Given the description of an element on the screen output the (x, y) to click on. 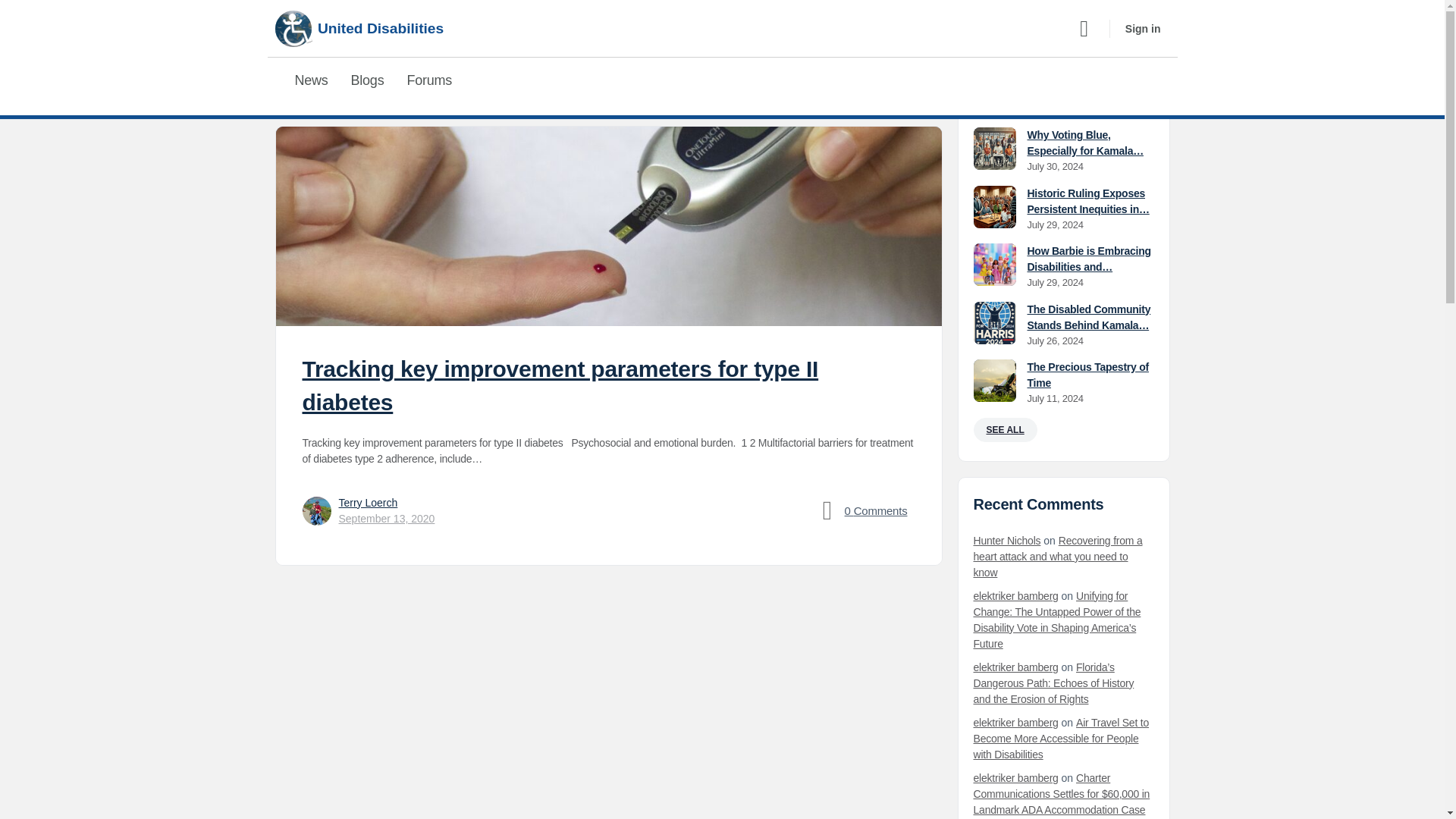
Recovering from a heart attack and what you need to know (1058, 555)
0 Comments (860, 511)
United Disabilities (359, 28)
elektriker bamberg (1016, 595)
Tracking key improvement parameters for type II diabetes (559, 385)
Hunter Nichols (1007, 539)
The Precious Tapestry of Time (1087, 375)
Sign in (1143, 27)
Blogs (367, 80)
September 13, 2020 (385, 518)
News (310, 80)
Terry Loerch (367, 502)
SEE ALL (1005, 428)
Forums (429, 80)
